Given the description of an element on the screen output the (x, y) to click on. 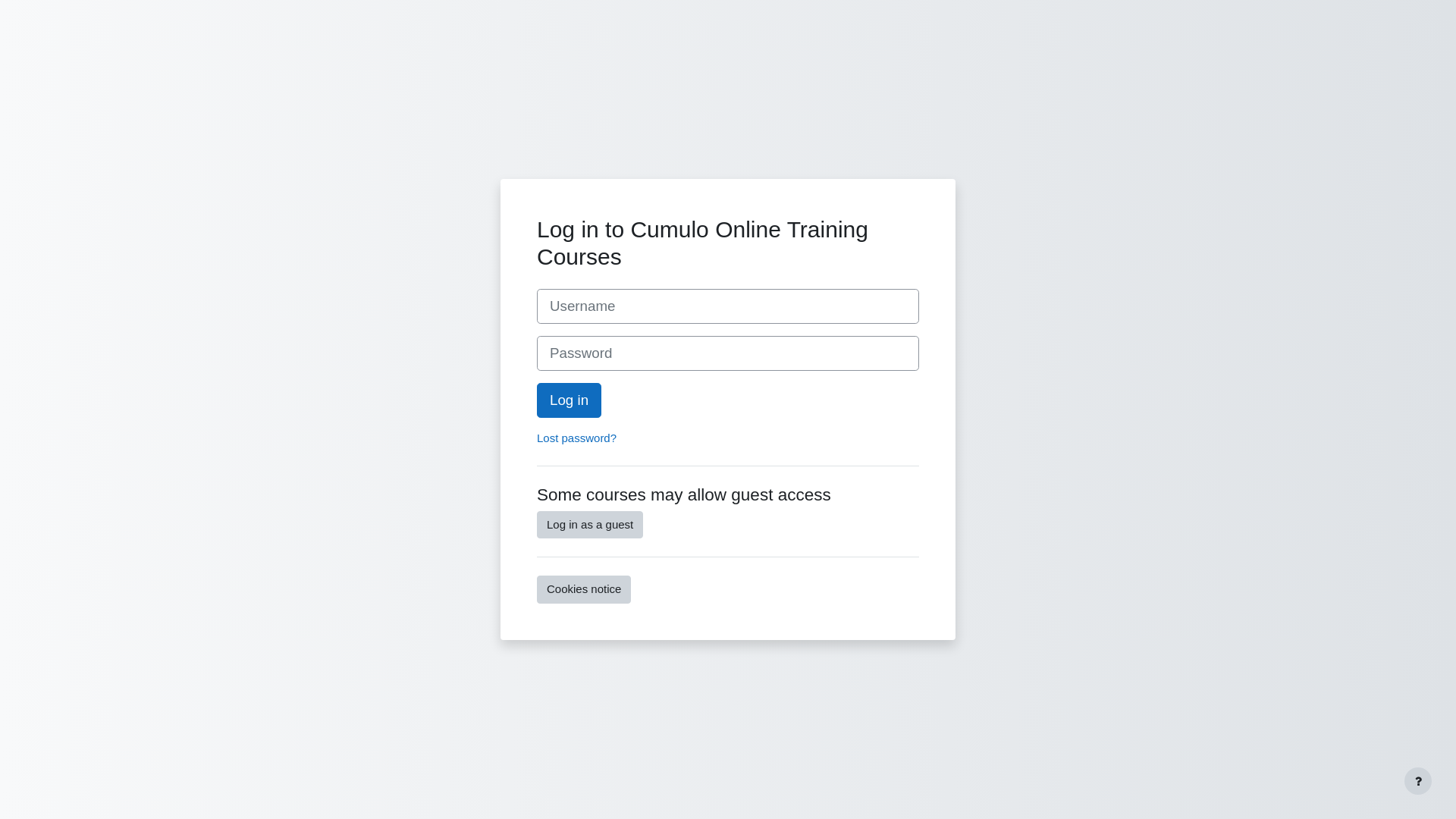
Log in Element type: text (568, 399)
Lost password? Element type: text (576, 437)
Log in as a guest Element type: text (589, 525)
Cookies notice Element type: text (583, 589)
